Given the description of an element on the screen output the (x, y) to click on. 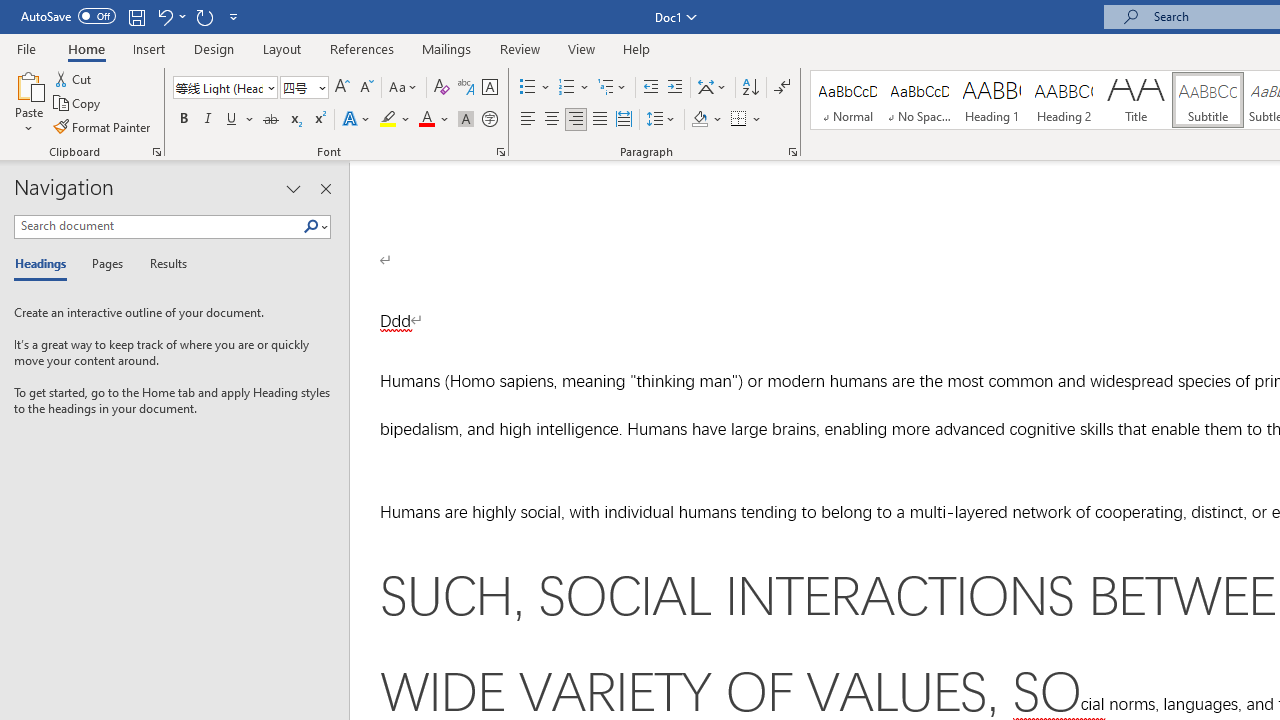
Results (161, 264)
Shading (706, 119)
Text Effects and Typography (357, 119)
Increase Indent (675, 87)
Text Highlight Color (395, 119)
Change Case (404, 87)
Format Painter (103, 126)
File Tab (26, 48)
Asian Layout (712, 87)
Distributed (623, 119)
Undo Paragraph Alignment (170, 15)
